Given the description of an element on the screen output the (x, y) to click on. 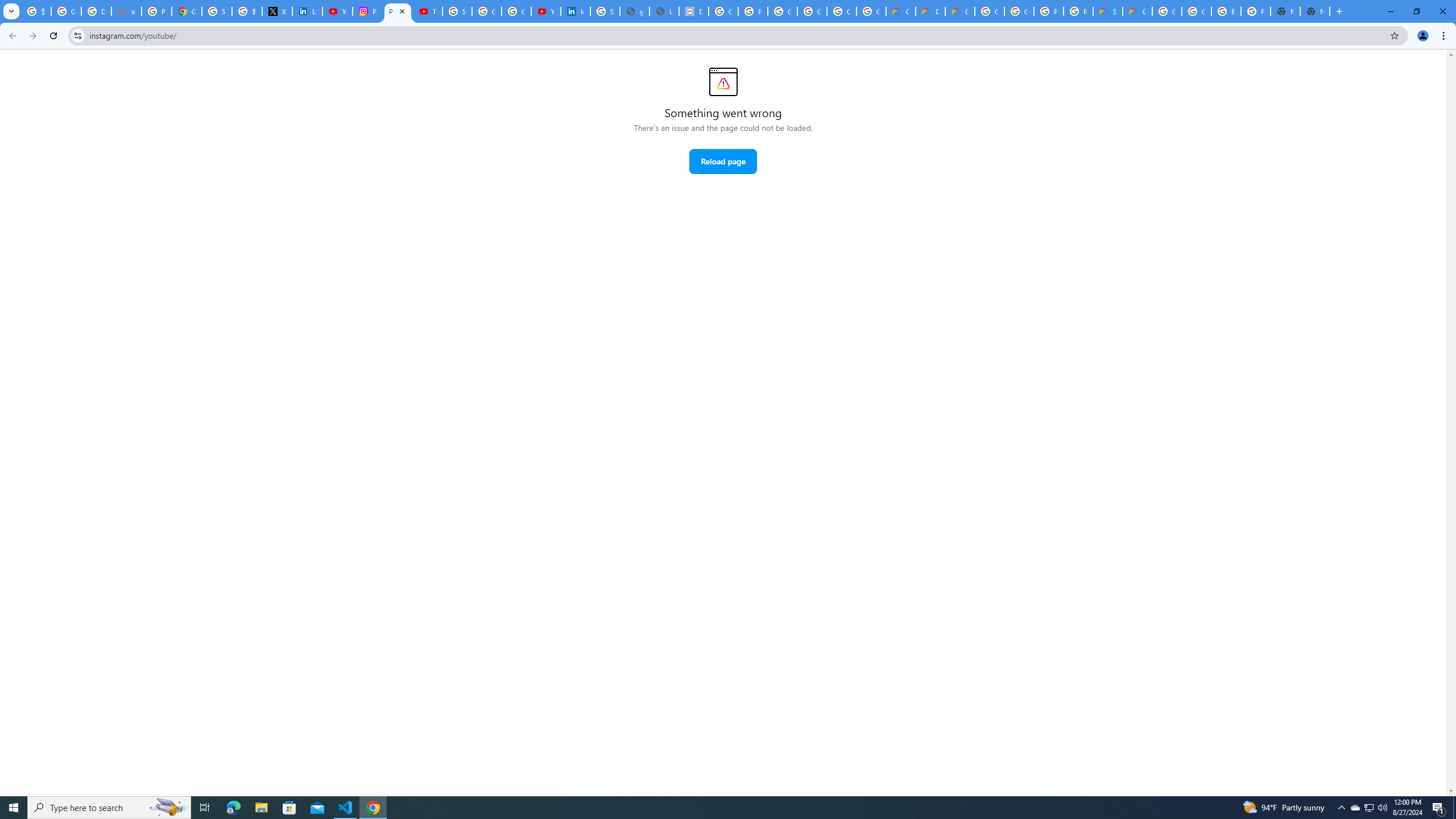
support.google.com - Network error (126, 11)
Gemini for Business and Developers | Google Cloud (959, 11)
Privacy Help Center - Policies Help (156, 11)
Sign in - Google Accounts (456, 11)
Google Cloud Service Health (1137, 11)
Identity verification via Persona | LinkedIn Help (575, 11)
New Tab (1314, 11)
Sign in - Google Accounts (604, 11)
